Given the description of an element on the screen output the (x, y) to click on. 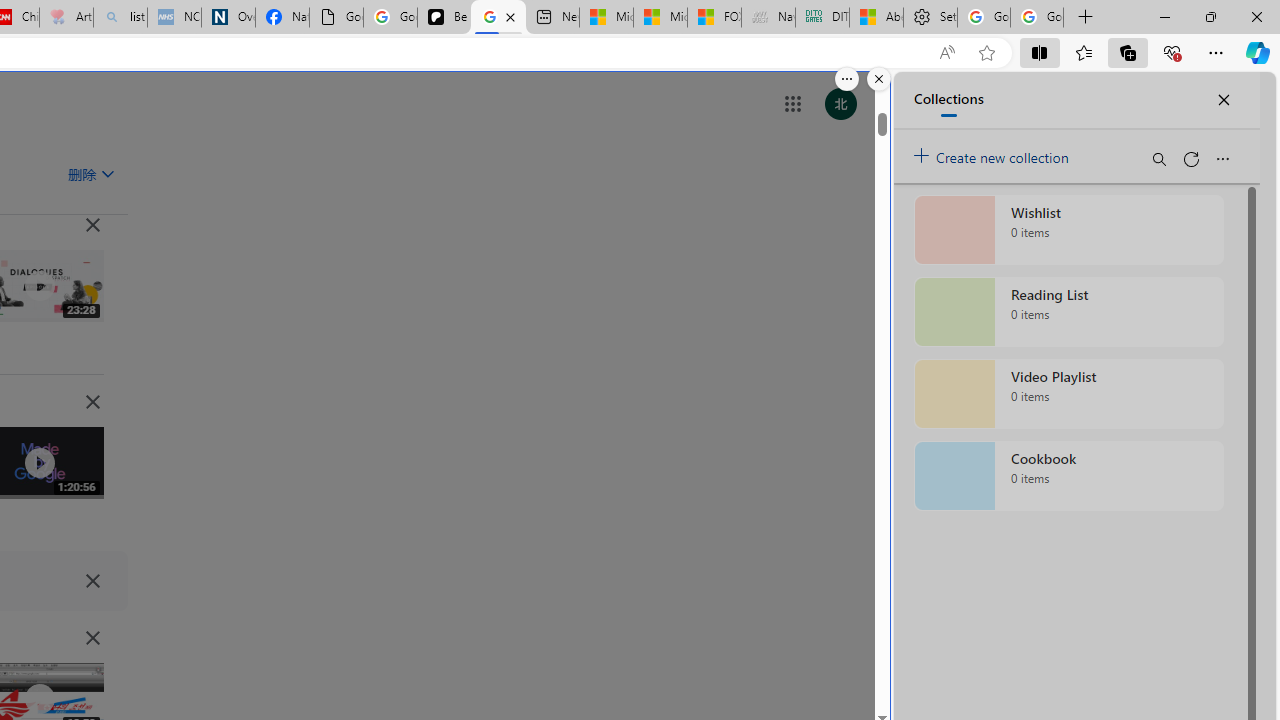
Class: IVR0f NMm5M (38, 699)
Class: TjcpUd NMm5M (91, 637)
Class: asE2Ub NMm5M (107, 173)
FOX News - MSN (714, 17)
Class: DI7Mnf NMm5M (91, 580)
